Given the description of an element on the screen output the (x, y) to click on. 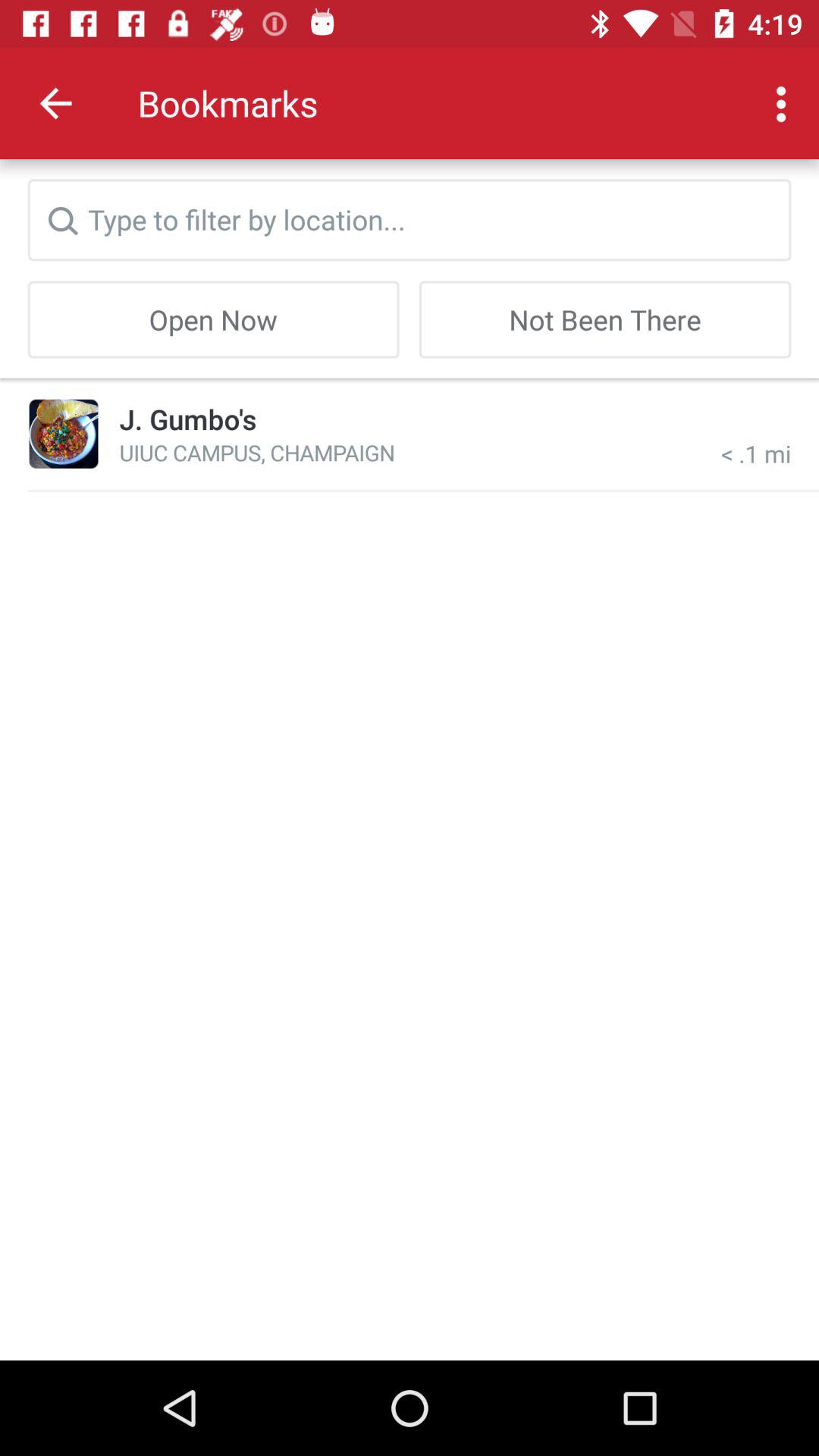
jump until open now item (213, 319)
